Given the description of an element on the screen output the (x, y) to click on. 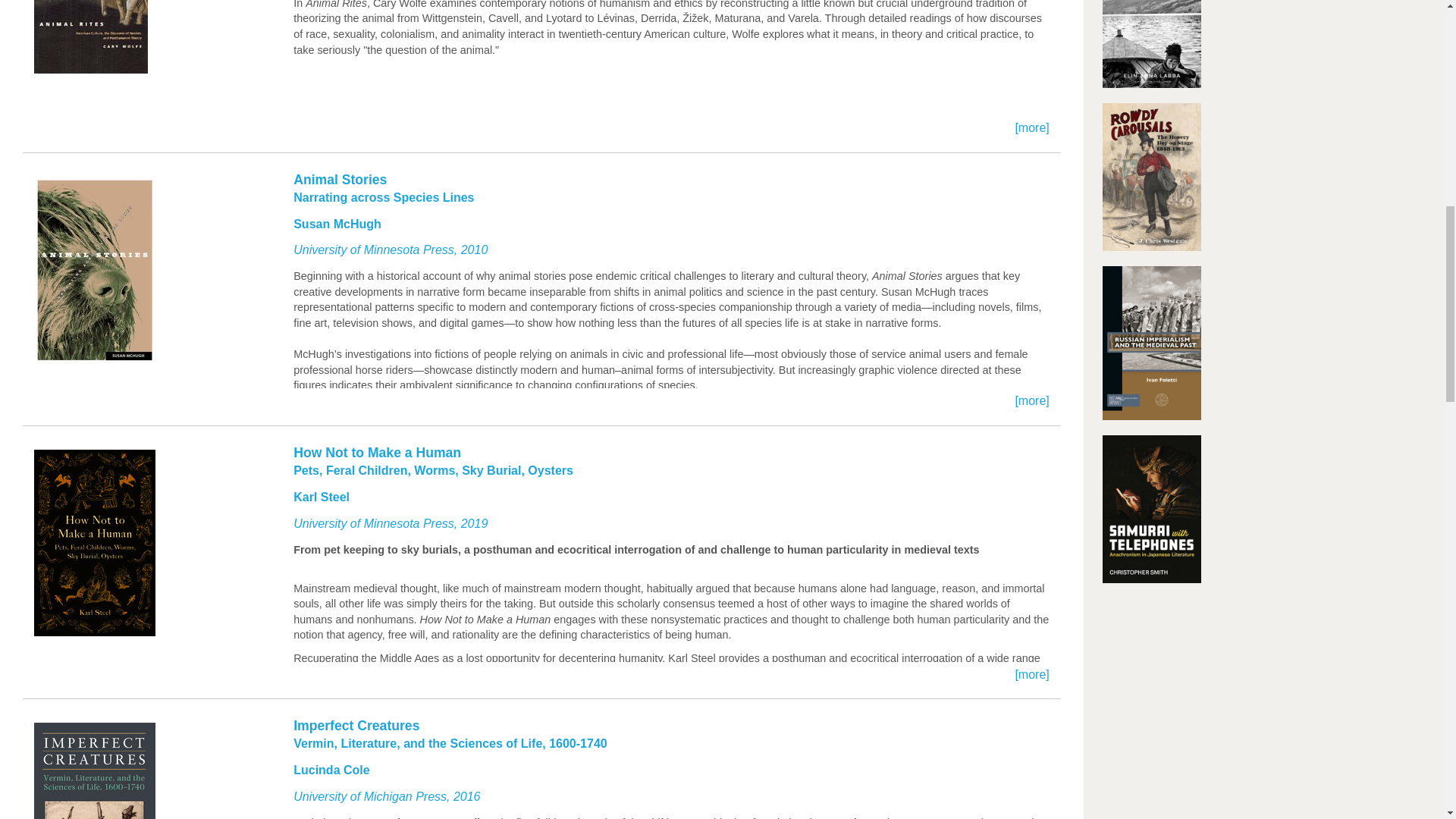
See more information about this book (541, 767)
